Given the description of an element on the screen output the (x, y) to click on. 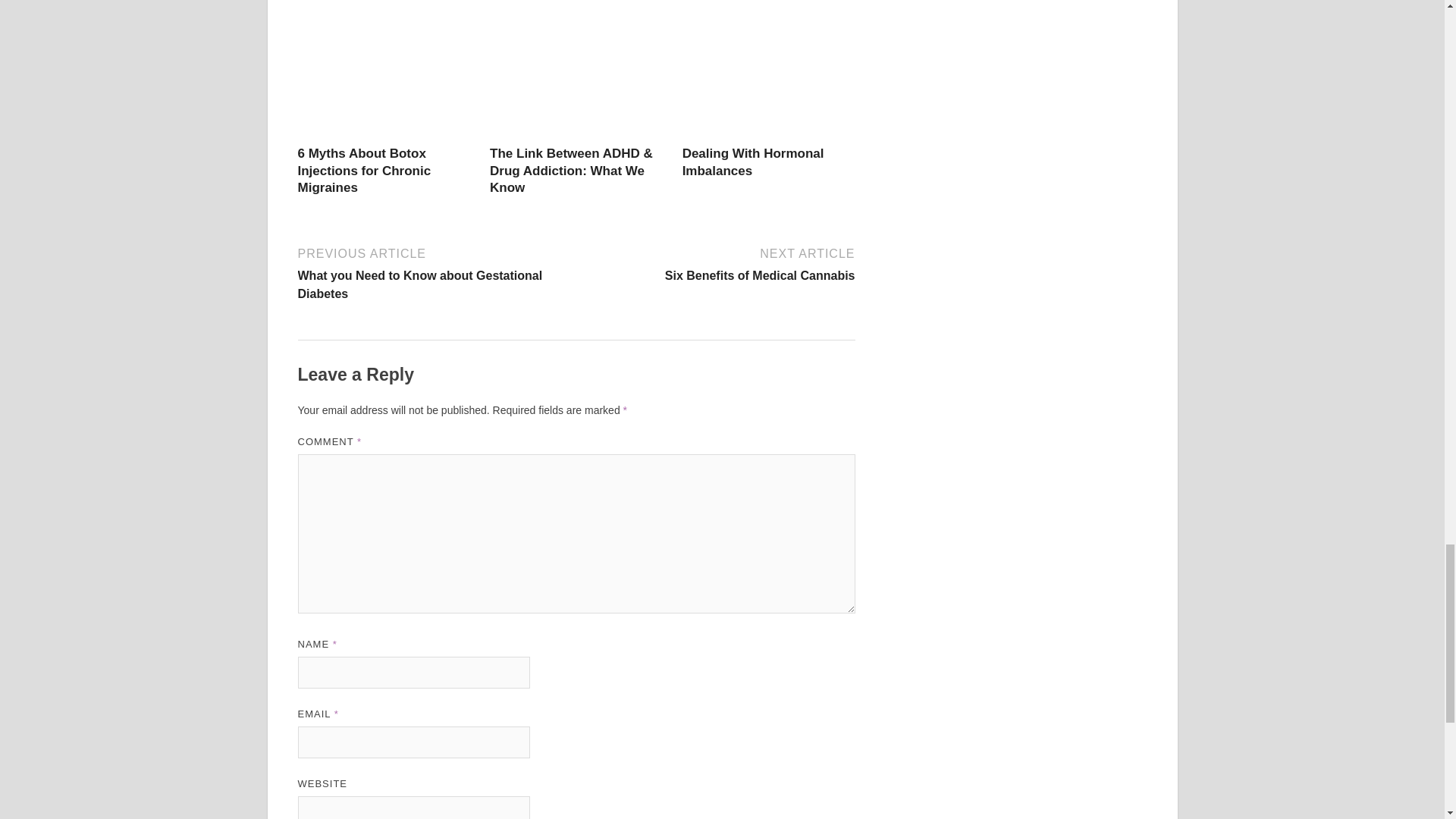
6 Myths About Botox Injections for Chronic Migraines (383, 135)
